Given the description of an element on the screen output the (x, y) to click on. 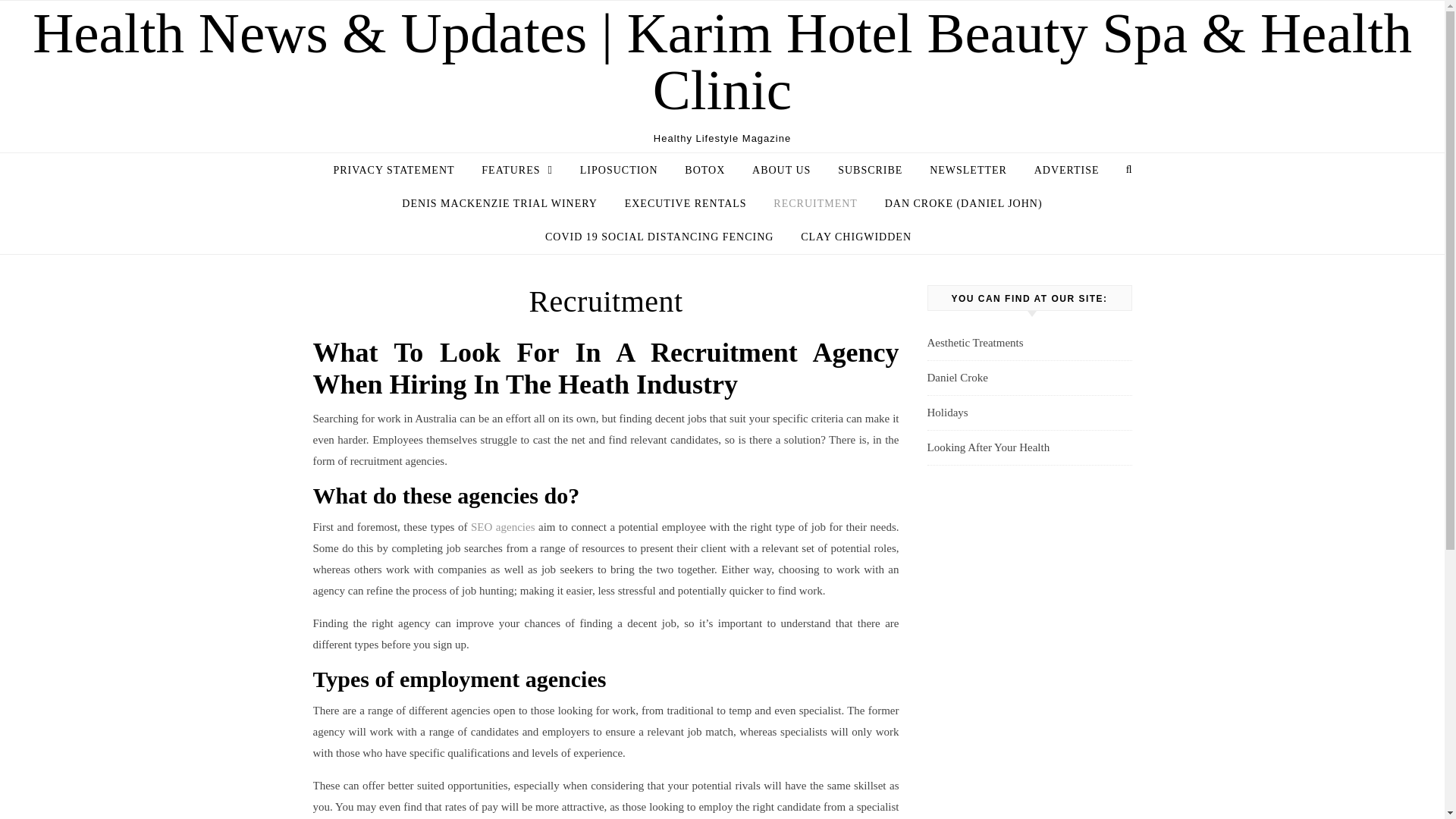
BOTOX (704, 170)
RECRUITMENT (815, 203)
DENIS MACKENZIE TRIAL WINERY (500, 203)
COVID 19 SOCIAL DISTANCING FENCING (659, 236)
FEATURES (516, 170)
PRIVACY STATEMENT (399, 170)
NEWSLETTER (968, 170)
LIPOSUCTION (618, 170)
SUBSCRIBE (869, 170)
Aesthetic Treatments (974, 342)
ADVERTISE (1067, 170)
EXECUTIVE RENTALS (685, 203)
CLAY CHIGWIDDEN (850, 236)
SEO agencies (502, 526)
ABOUT US (780, 170)
